Given the description of an element on the screen output the (x, y) to click on. 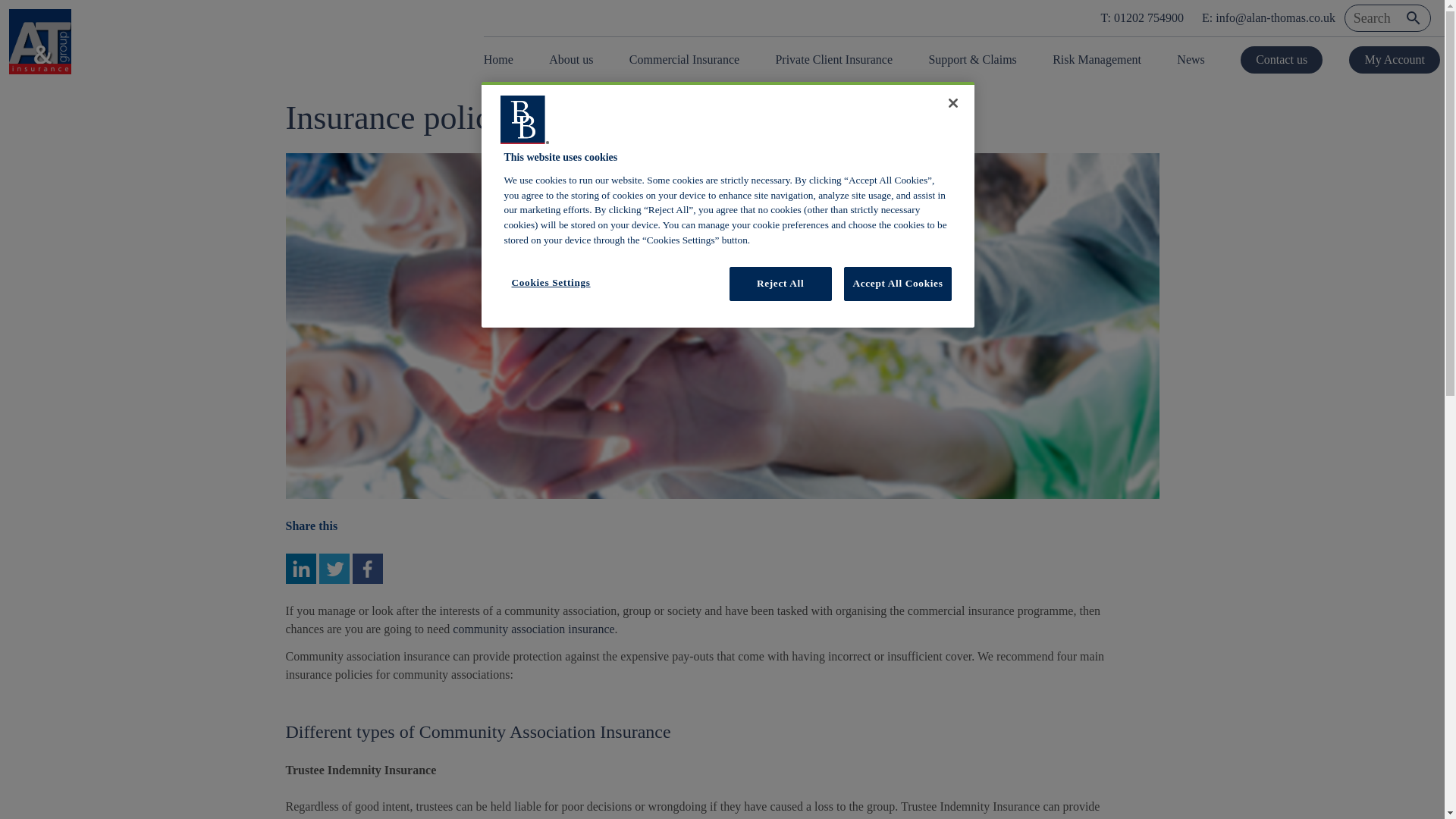
T: 01202 754900 (1142, 17)
Private Client Insurance (833, 59)
Commercial Insurance (684, 59)
Home (502, 59)
About us (571, 59)
